Given the description of an element on the screen output the (x, y) to click on. 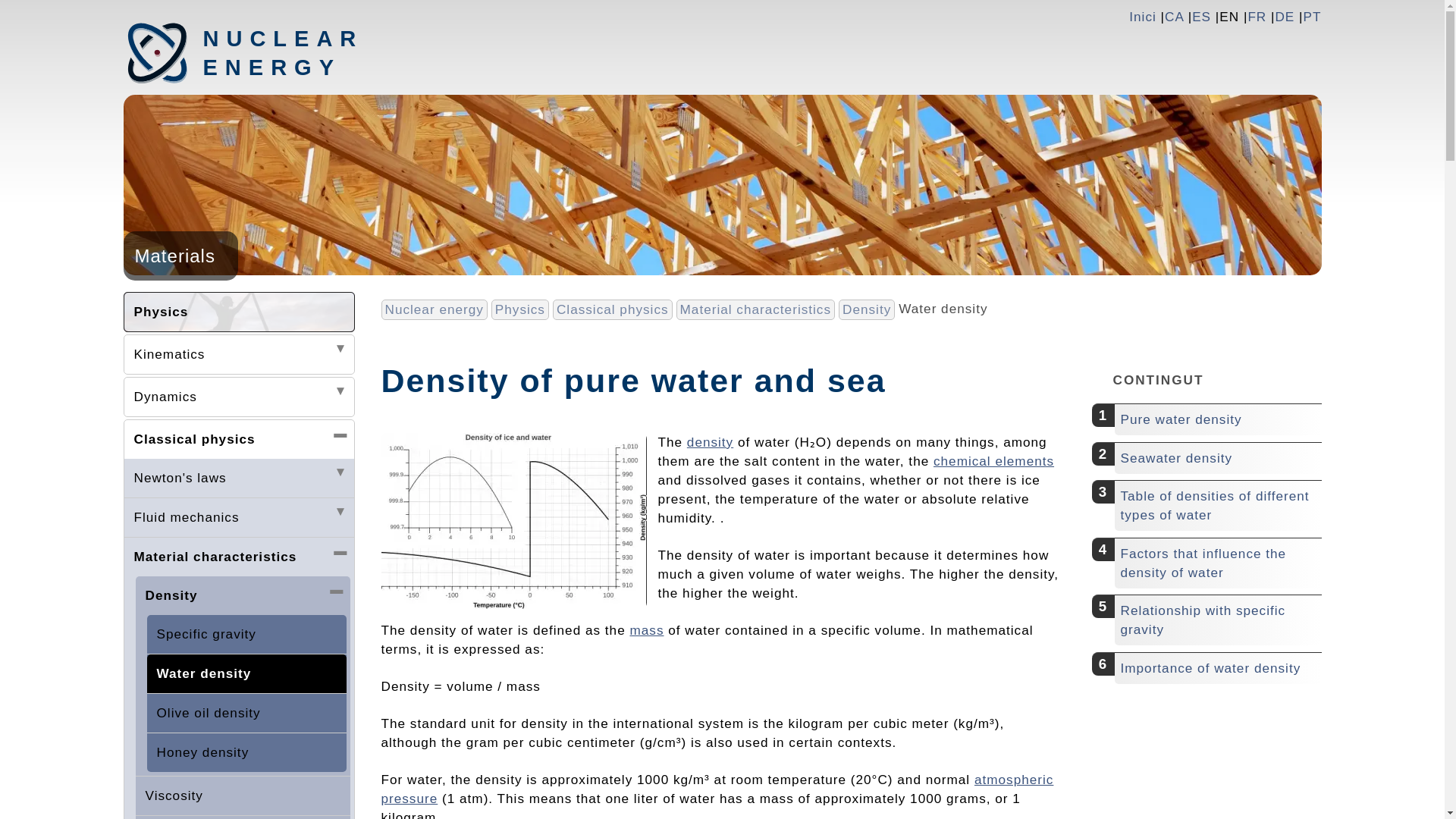
CA (1173, 16)
Kinematics (238, 353)
Dynamics (238, 396)
DE (1284, 16)
NUCLEAR ENERGY (282, 51)
PT (1312, 16)
ES (1201, 16)
FR (1256, 16)
Physics (238, 311)
Inici (1142, 16)
